Given the description of an element on the screen output the (x, y) to click on. 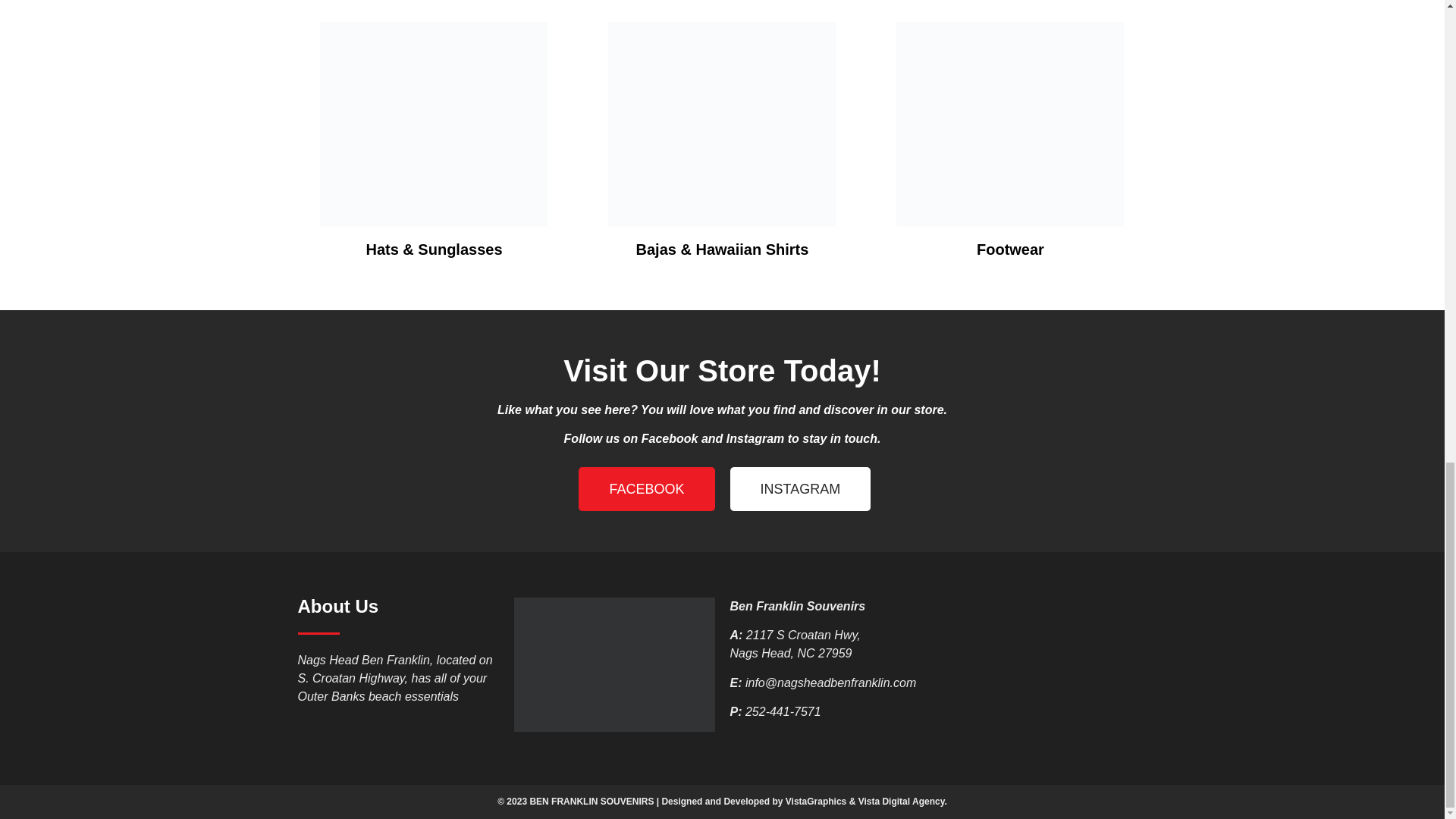
INSTAGRAM (799, 488)
Vista Digital Agency (901, 801)
VistaGraphics (815, 801)
FACEBOOK (646, 488)
